Given the description of an element on the screen output the (x, y) to click on. 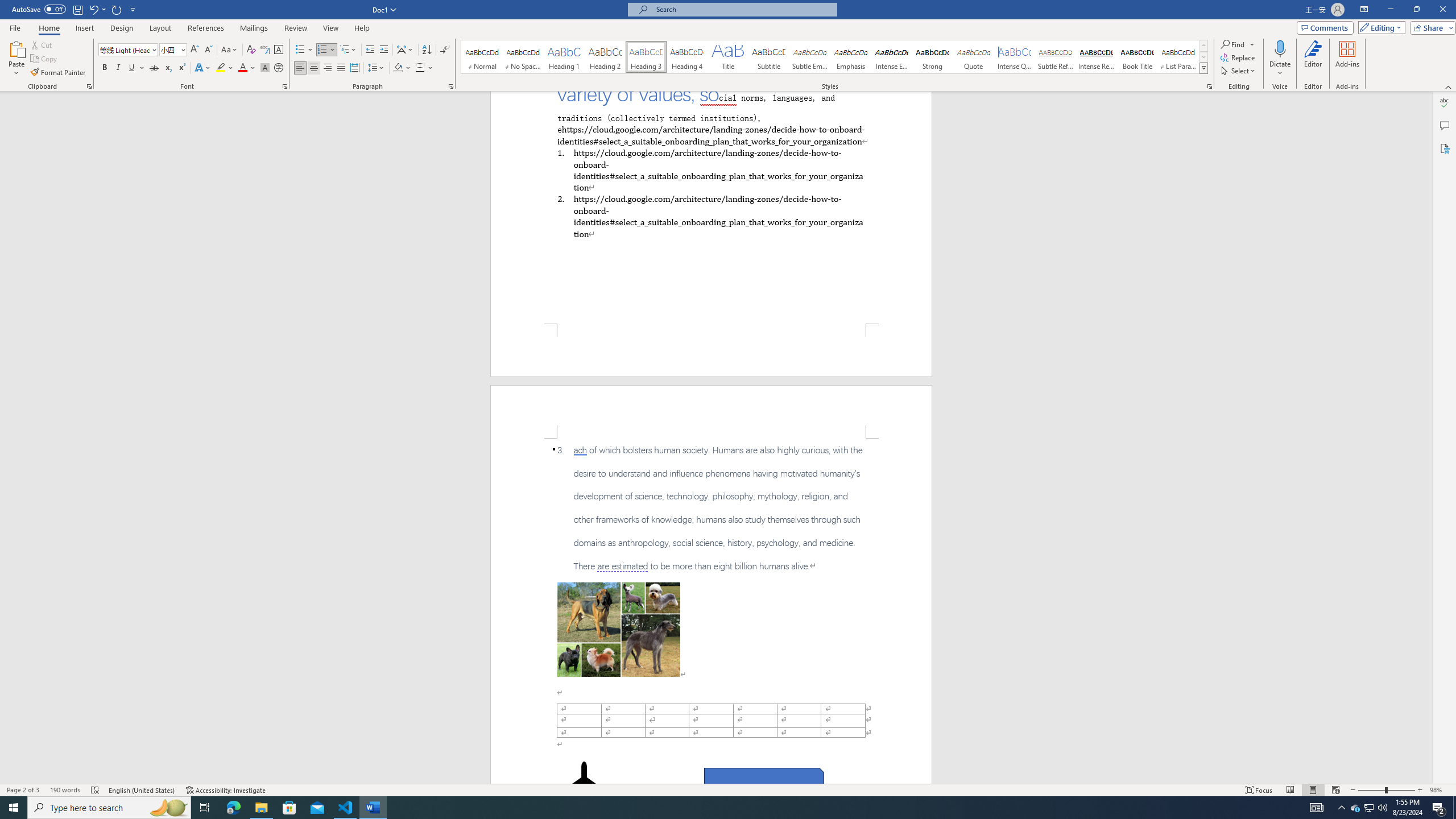
Accessibility (1444, 147)
